Given the description of an element on the screen output the (x, y) to click on. 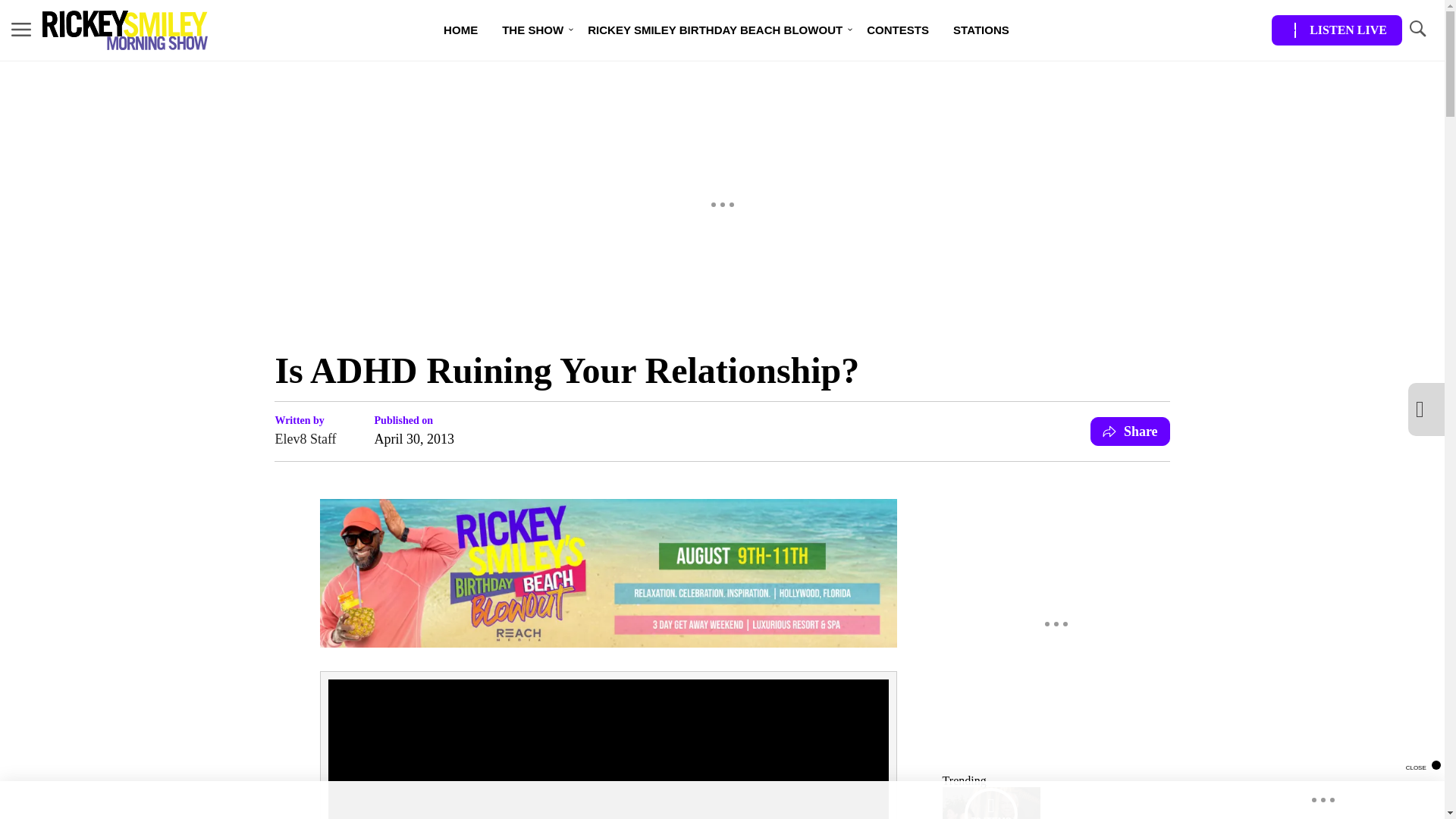
RICKEY SMILEY BIRTHDAY BEACH BLOWOUT (714, 30)
CONTESTS (897, 30)
TOGGLE SEARCH (1417, 30)
Share (1130, 430)
TOGGLE SEARCH (1417, 28)
Stations (981, 30)
LISTEN LIVE (1336, 30)
HOME (459, 30)
MENU (20, 29)
STATIONS (981, 30)
Elev8 Staff (305, 438)
MENU (20, 30)
Media Playlist (990, 803)
70 ITEMS (991, 803)
